Given the description of an element on the screen output the (x, y) to click on. 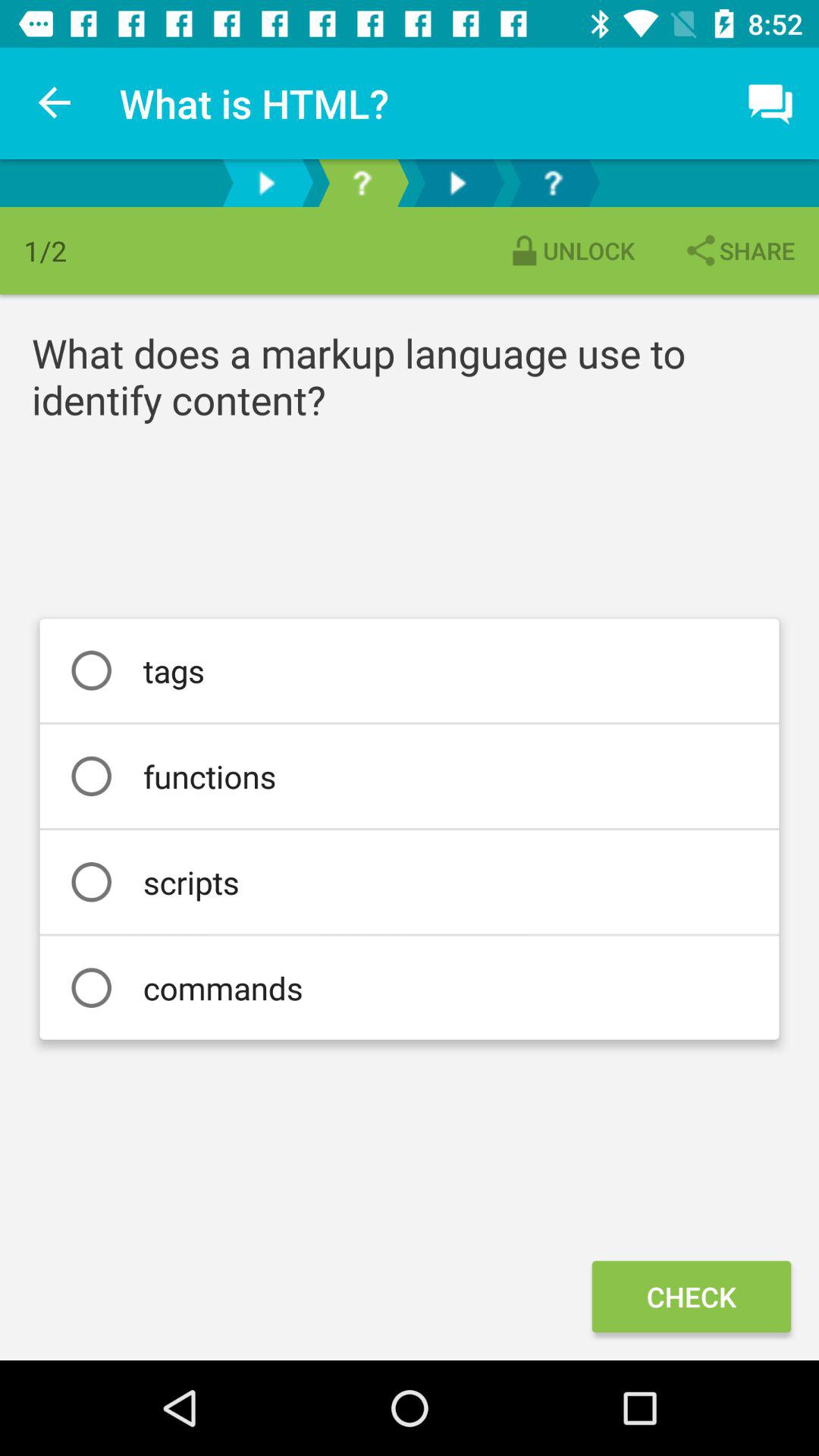
turn on the icon above the what does a icon (570, 250)
